Given the description of an element on the screen output the (x, y) to click on. 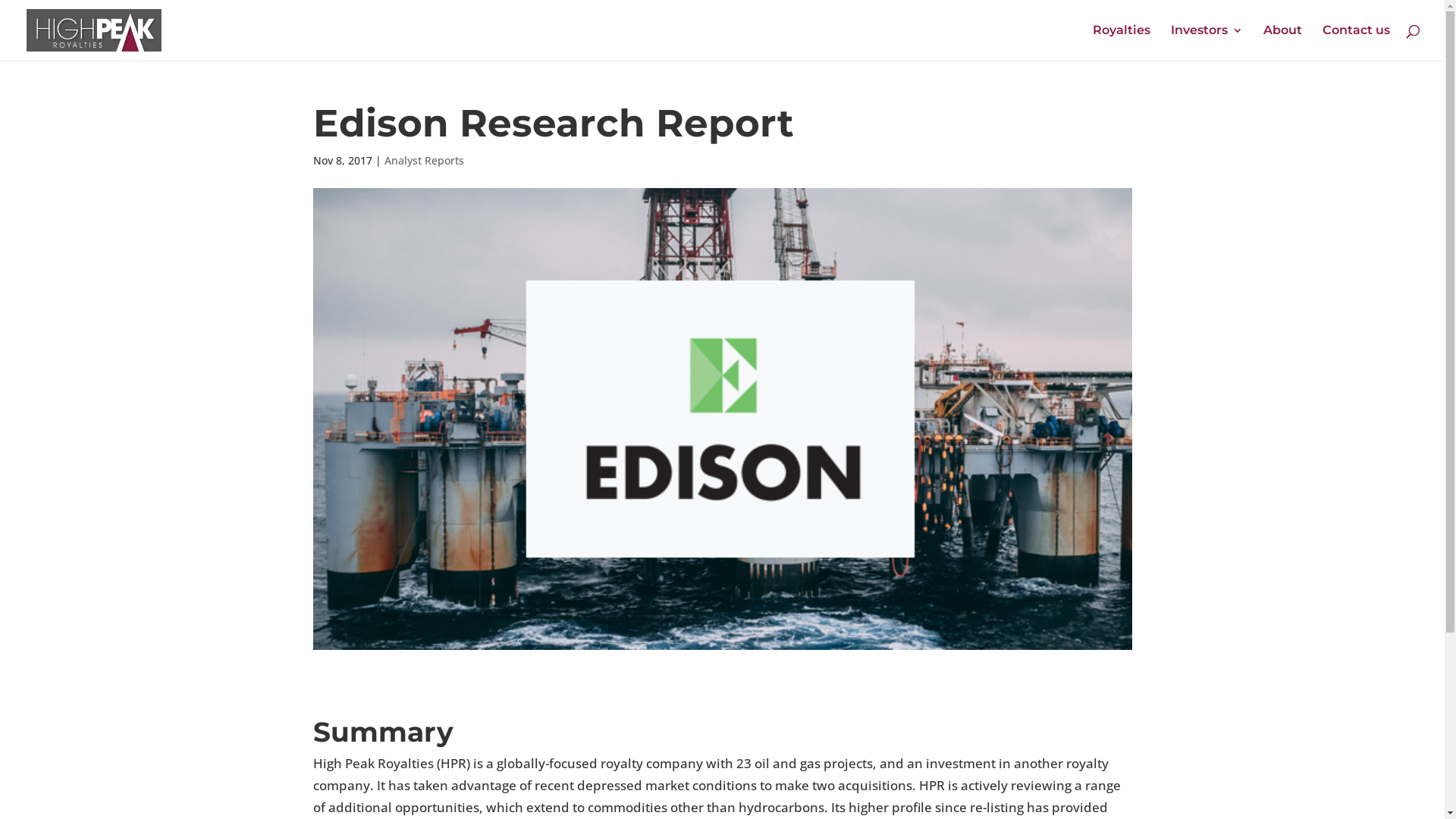
About Element type: text (1282, 42)
Analyst Reports Element type: text (423, 160)
Royalties Element type: text (1121, 42)
Contact us Element type: text (1356, 42)
Investors Element type: text (1206, 42)
